Given the description of an element on the screen output the (x, y) to click on. 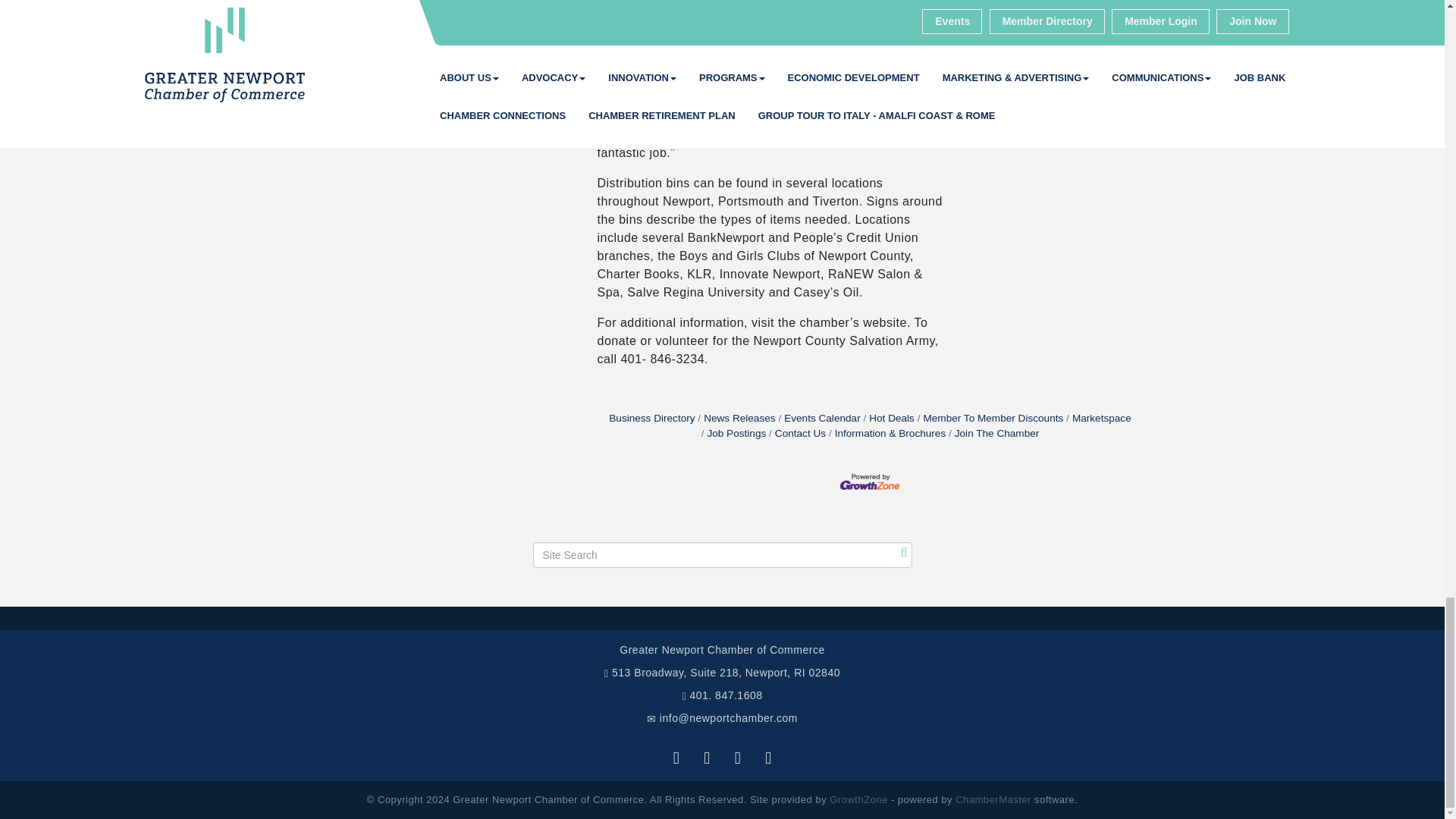
Icon Link (738, 756)
Icon Link (706, 756)
Icon Link (675, 756)
Icon Link (767, 756)
